Given the description of an element on the screen output the (x, y) to click on. 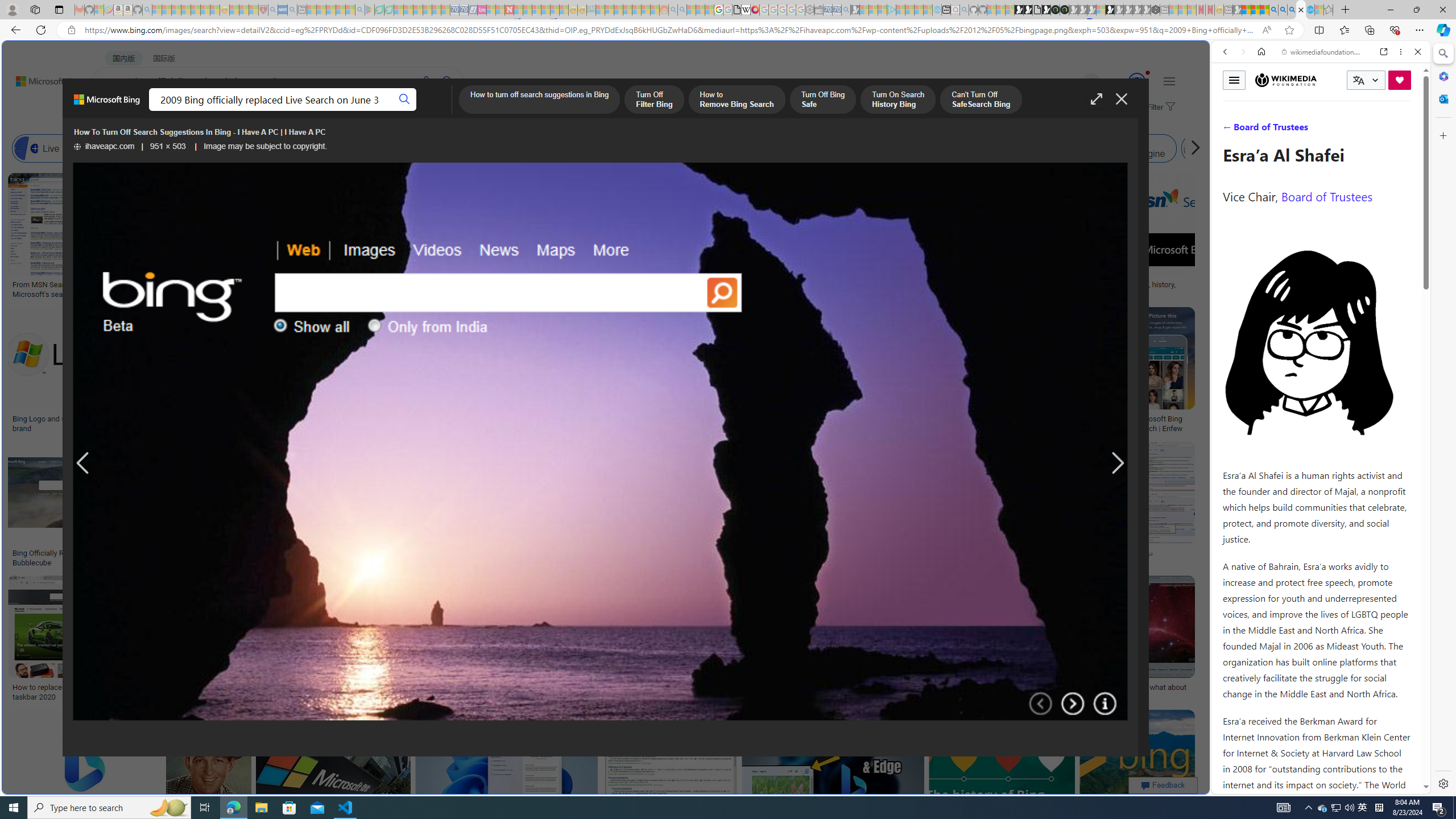
MY BING (156, 111)
Actions for this site (1370, 583)
Bing Ai Search Engine Powered (536, 148)
Close image (1121, 99)
Bing Best Search Engine (633, 148)
